Given the description of an element on the screen output the (x, y) to click on. 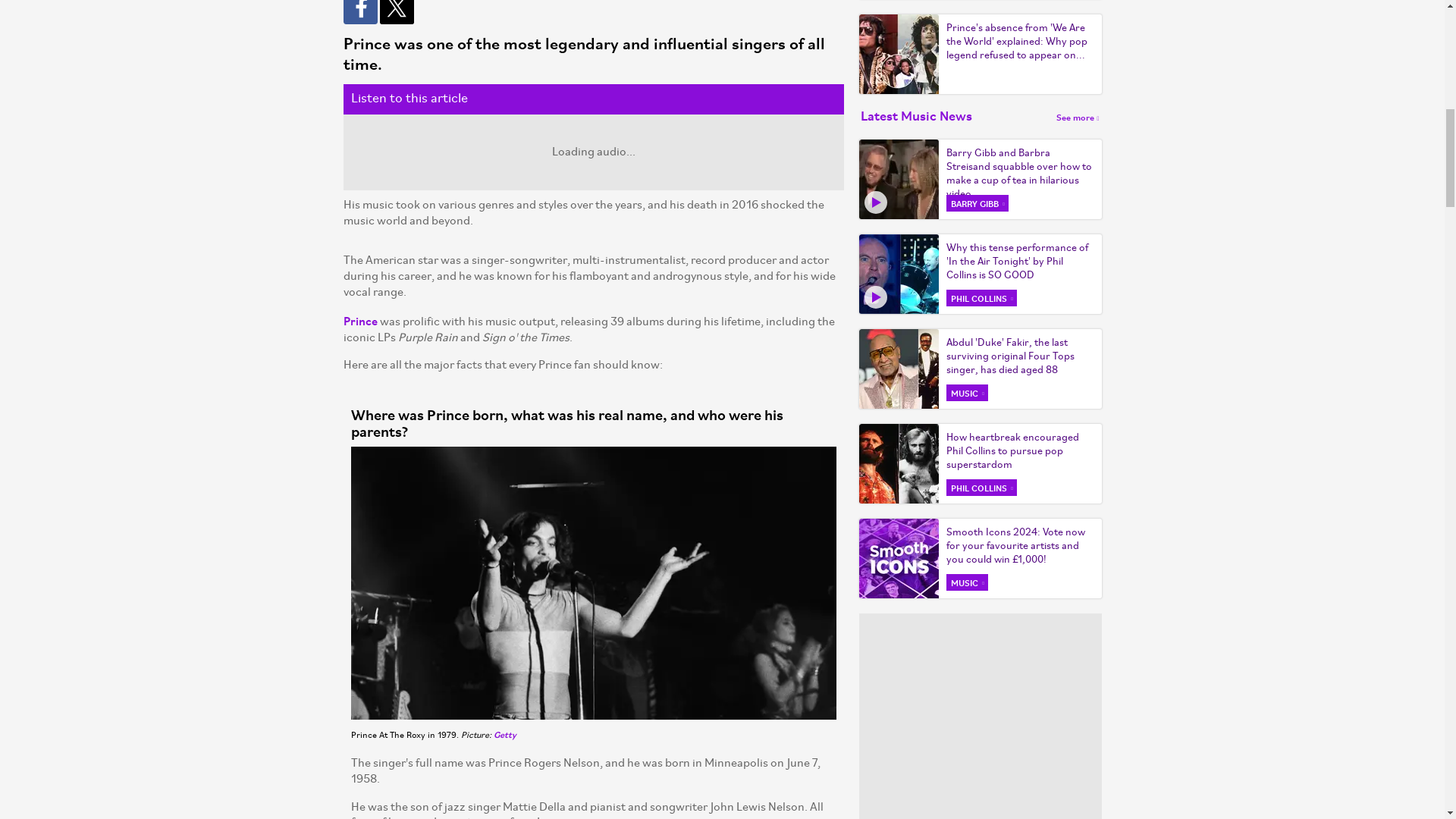
Prince (359, 320)
Getty (504, 734)
